Given the description of an element on the screen output the (x, y) to click on. 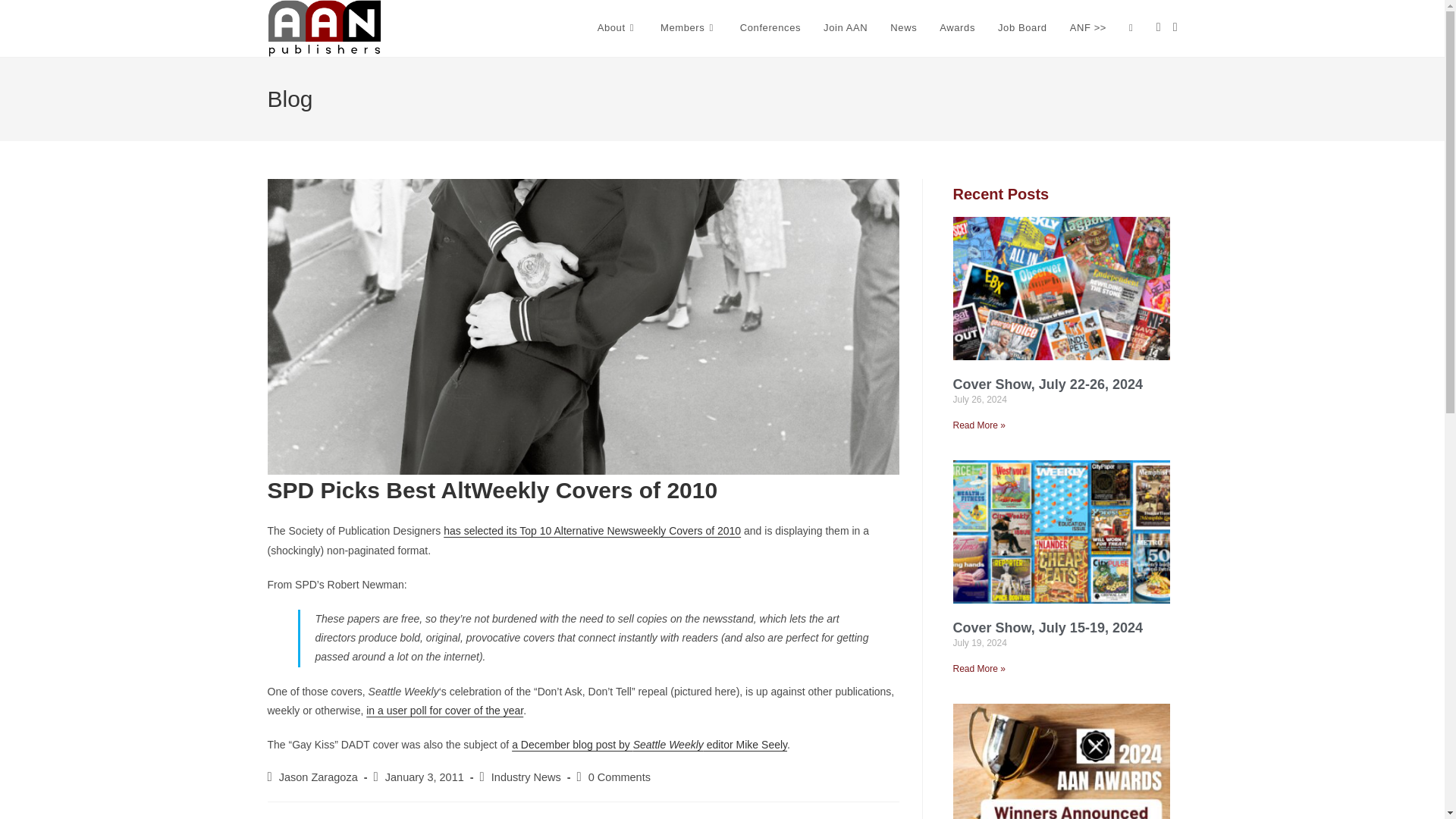
About (617, 28)
Members (689, 28)
Join AAN (845, 28)
Conferences (770, 28)
Awards (957, 28)
Job Board (1022, 28)
Posts by Jason Zaragoza (318, 776)
